Given the description of an element on the screen output the (x, y) to click on. 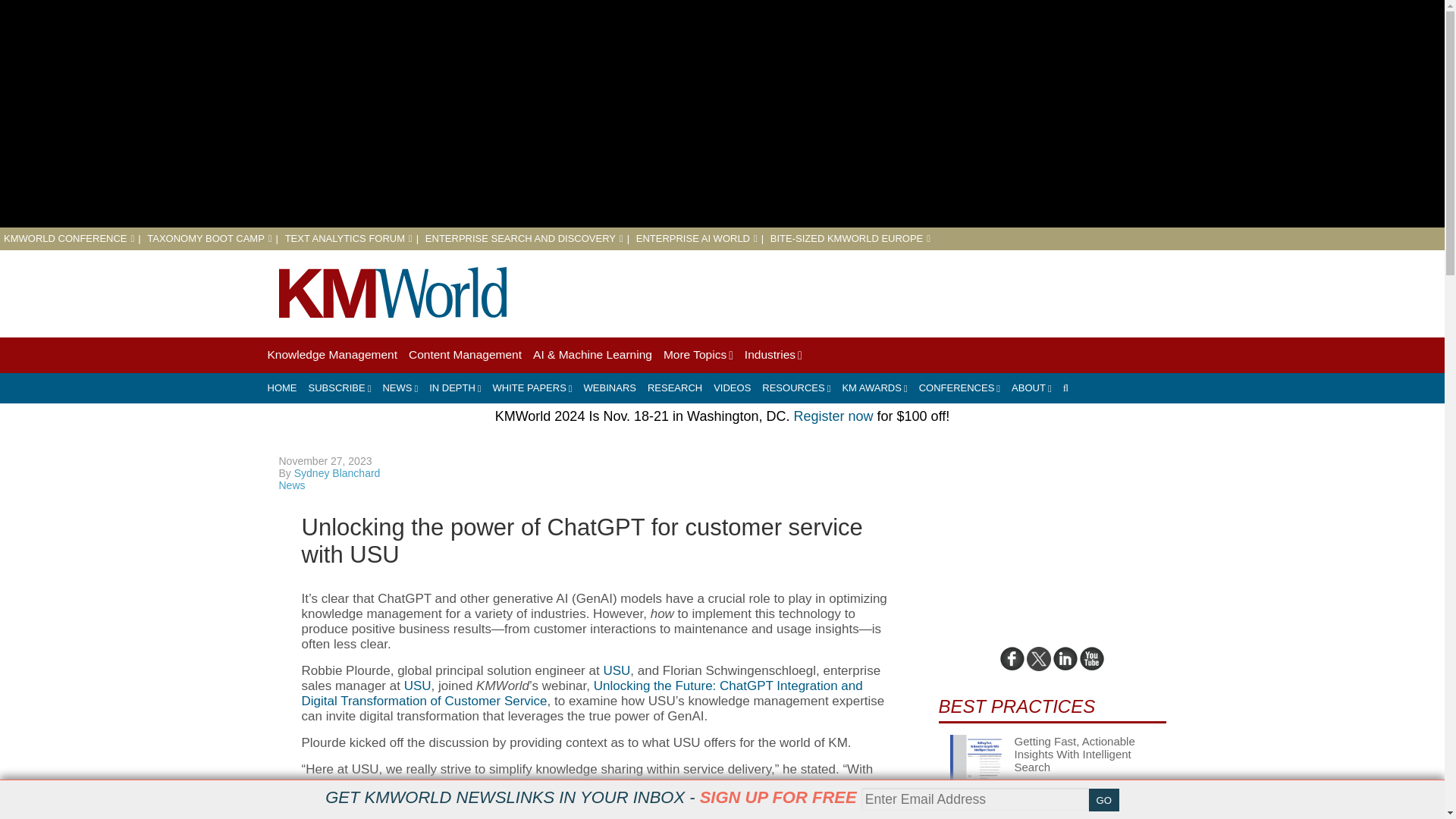
Knowledge Management (331, 355)
ENTERPRISE SEARCH AND DISCOVERY (524, 238)
GET KMWORLD NEWSLINKS IN YOUR INBOX - SIGN UP FOR FREE (590, 797)
Content Management (465, 355)
Content Management (465, 355)
ENTERPRISE AI WORLD (696, 238)
Knowledge Management (331, 355)
KMWORLD CONFERENCE (68, 238)
BITE-SIZED KMWORLD EUROPE (850, 238)
More Topics (698, 355)
TAXONOMY BOOT CAMP (208, 238)
Industries (773, 355)
GO (1104, 799)
TEXT ANALYTICS FORUM (348, 238)
